Given the description of an element on the screen output the (x, y) to click on. 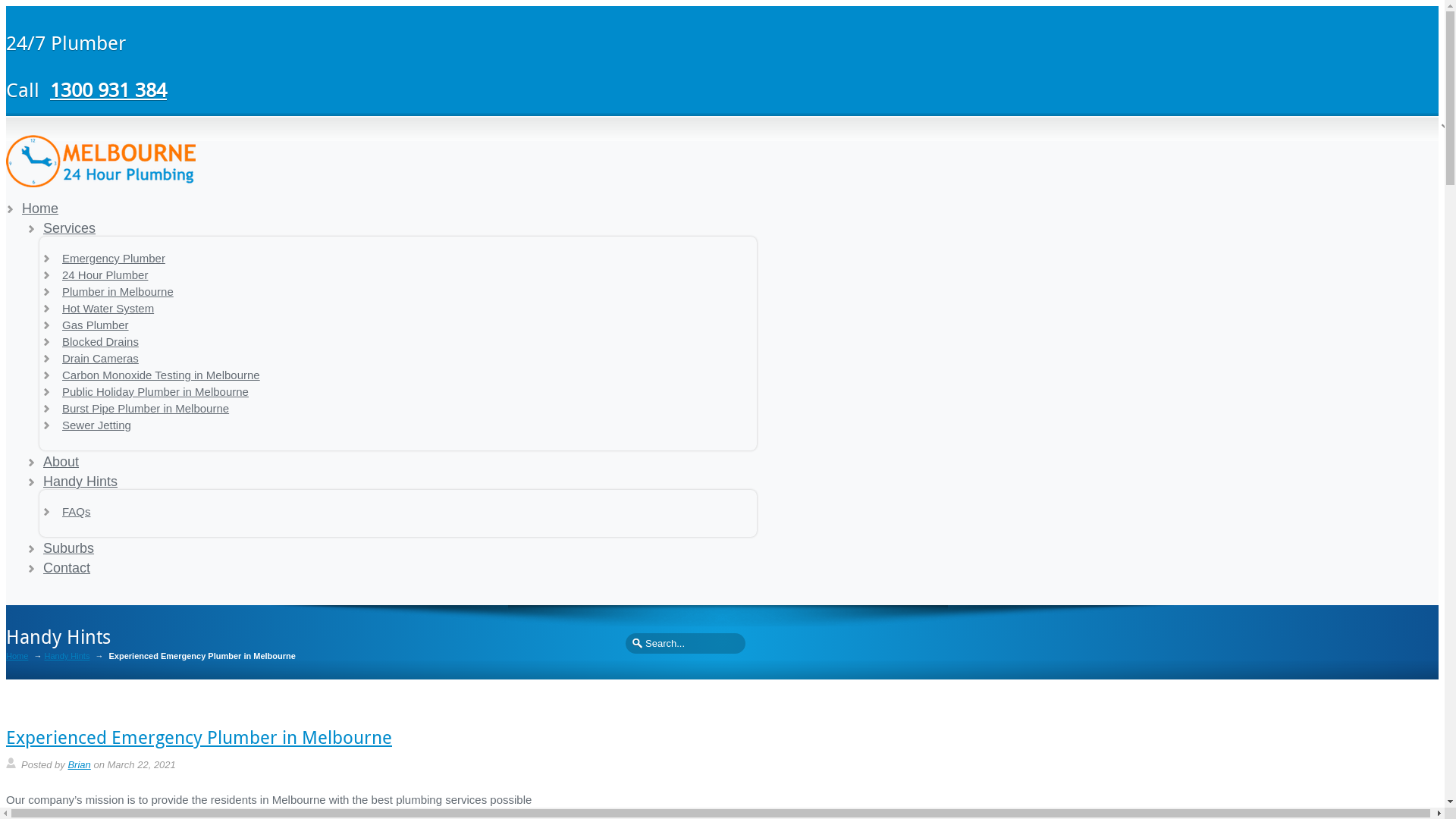
Plumber in Melbourne Element type: text (117, 291)
Home Element type: text (40, 208)
Experienced Emergency Plumber in Melbourne Element type: text (199, 736)
Suburbs Element type: text (68, 548)
Emergency Plumber Element type: text (113, 257)
Handy Hints Element type: text (80, 481)
FAQs Element type: text (76, 511)
Contact Element type: text (66, 567)
Public Holiday Plumber in Melbourne Element type: text (155, 391)
Blocked Drains Element type: text (100, 341)
Carbon Monoxide Testing in Melbourne Element type: text (160, 374)
24 Hour Plumber Element type: text (104, 274)
Sewer Jetting Element type: text (96, 424)
Burst Pipe Plumber in Melbourne Element type: text (145, 408)
About Element type: text (60, 461)
Gas Plumber Element type: text (95, 324)
Handy Hints Element type: text (66, 656)
Brian Element type: text (78, 764)
Hot Water System Element type: text (107, 307)
Drain Cameras Element type: text (100, 358)
1300 931 384 Element type: text (108, 89)
Services Element type: text (69, 228)
Home Element type: text (17, 656)
